Given the description of an element on the screen output the (x, y) to click on. 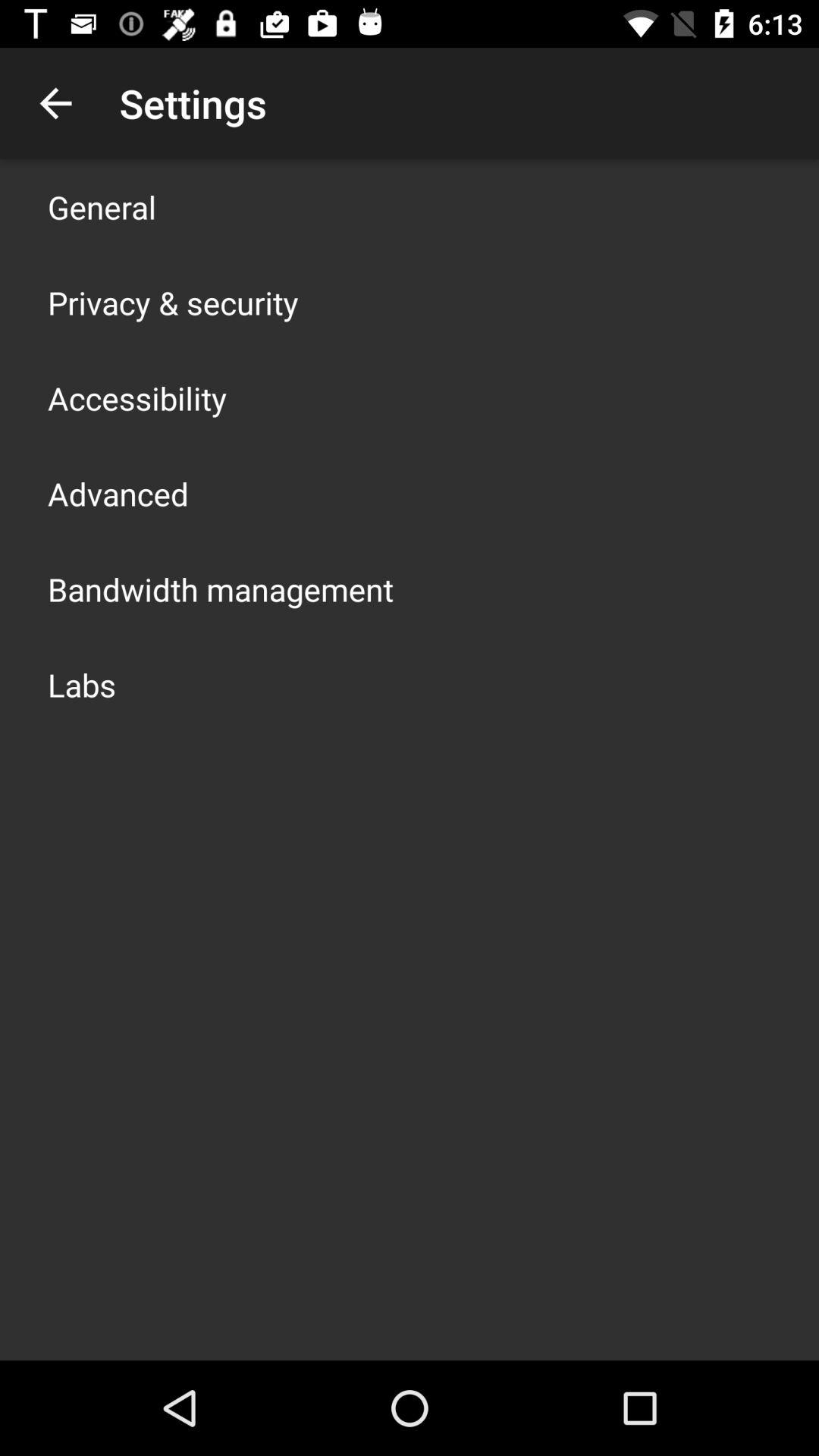
turn on the bandwidth management app (220, 588)
